Given the description of an element on the screen output the (x, y) to click on. 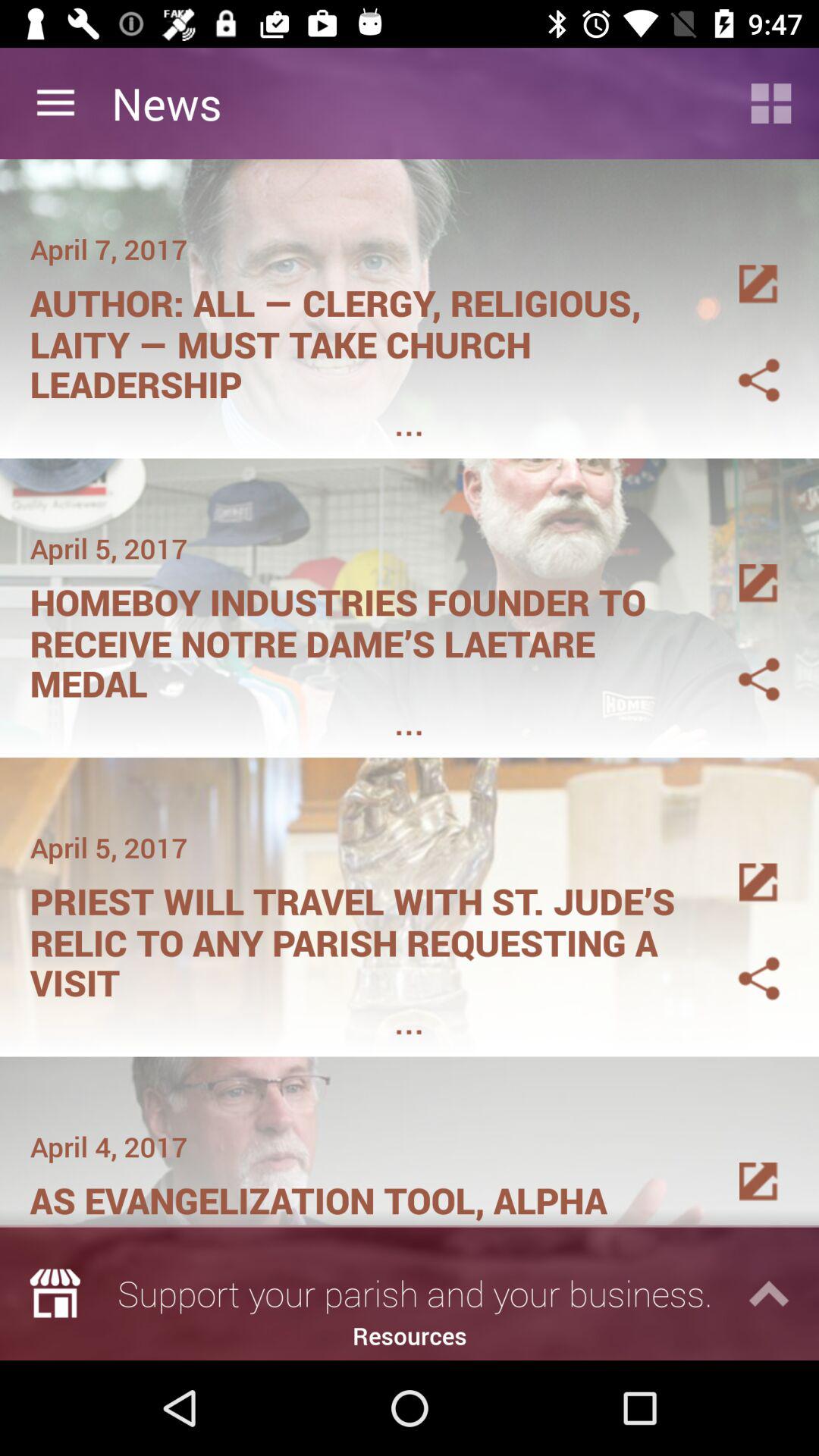
switch to grid view (771, 103)
